Given the description of an element on the screen output the (x, y) to click on. 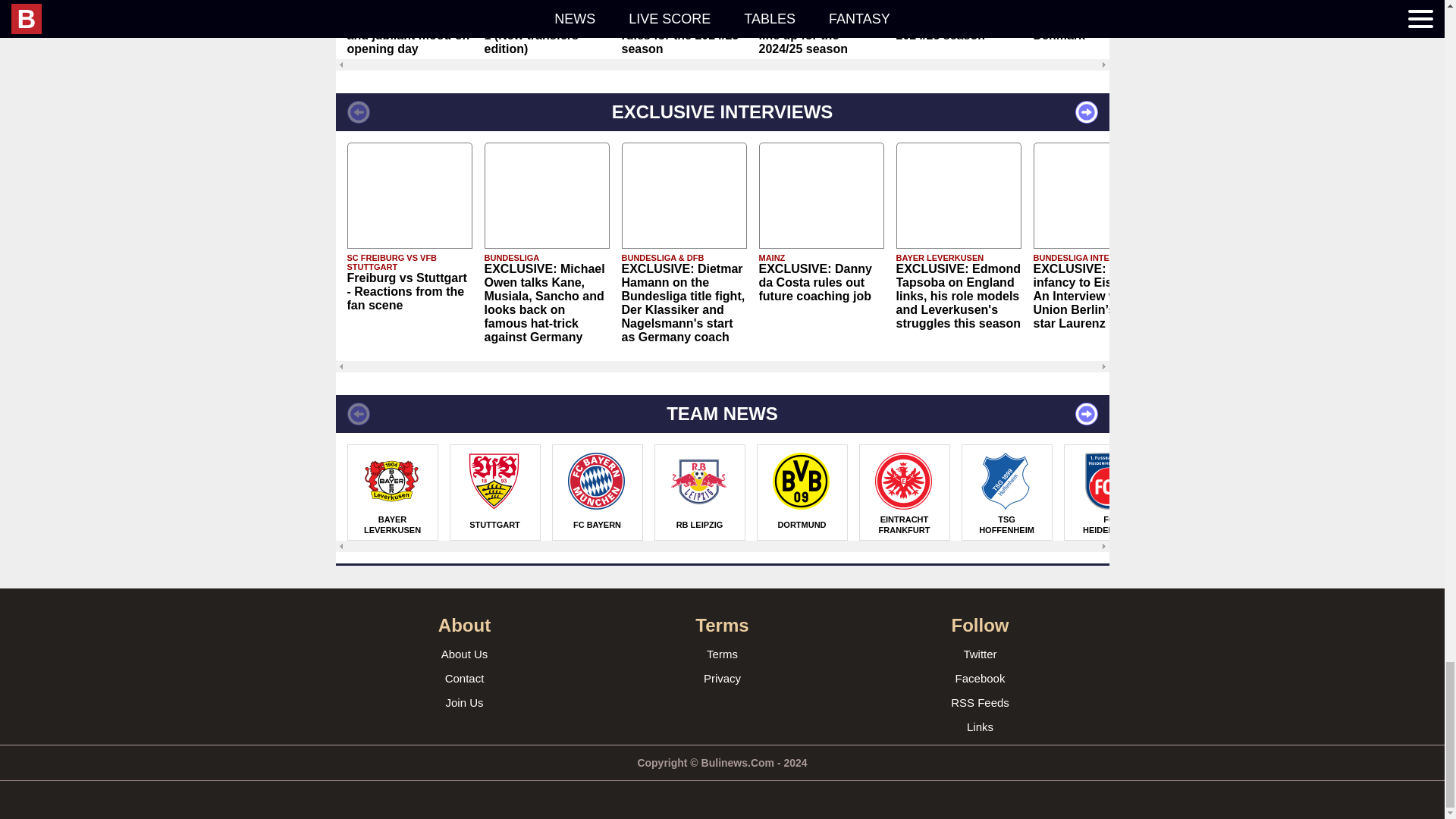
EXCLUSIVE INTERVIEWS (721, 112)
TEAM NEWS (721, 413)
